Given the description of an element on the screen output the (x, y) to click on. 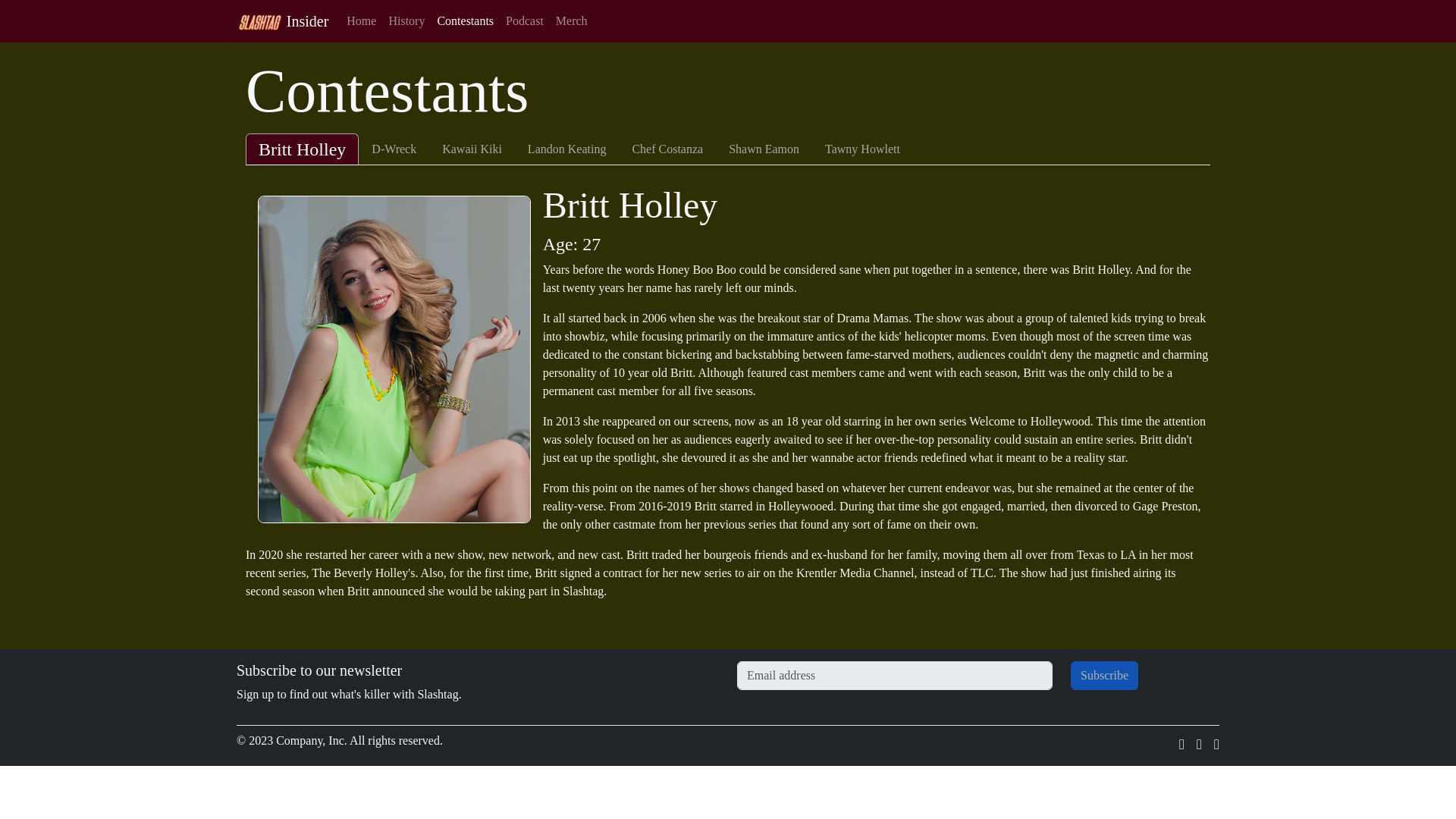
Britt Holley (302, 149)
Shawn Eamon (764, 149)
Home (360, 20)
Subscribe (1104, 675)
History (405, 20)
D-Wreck (393, 149)
Contestants (464, 20)
Insider (282, 20)
Tawny Howlett (862, 149)
Kawaii Kiki (472, 149)
